Given the description of an element on the screen output the (x, y) to click on. 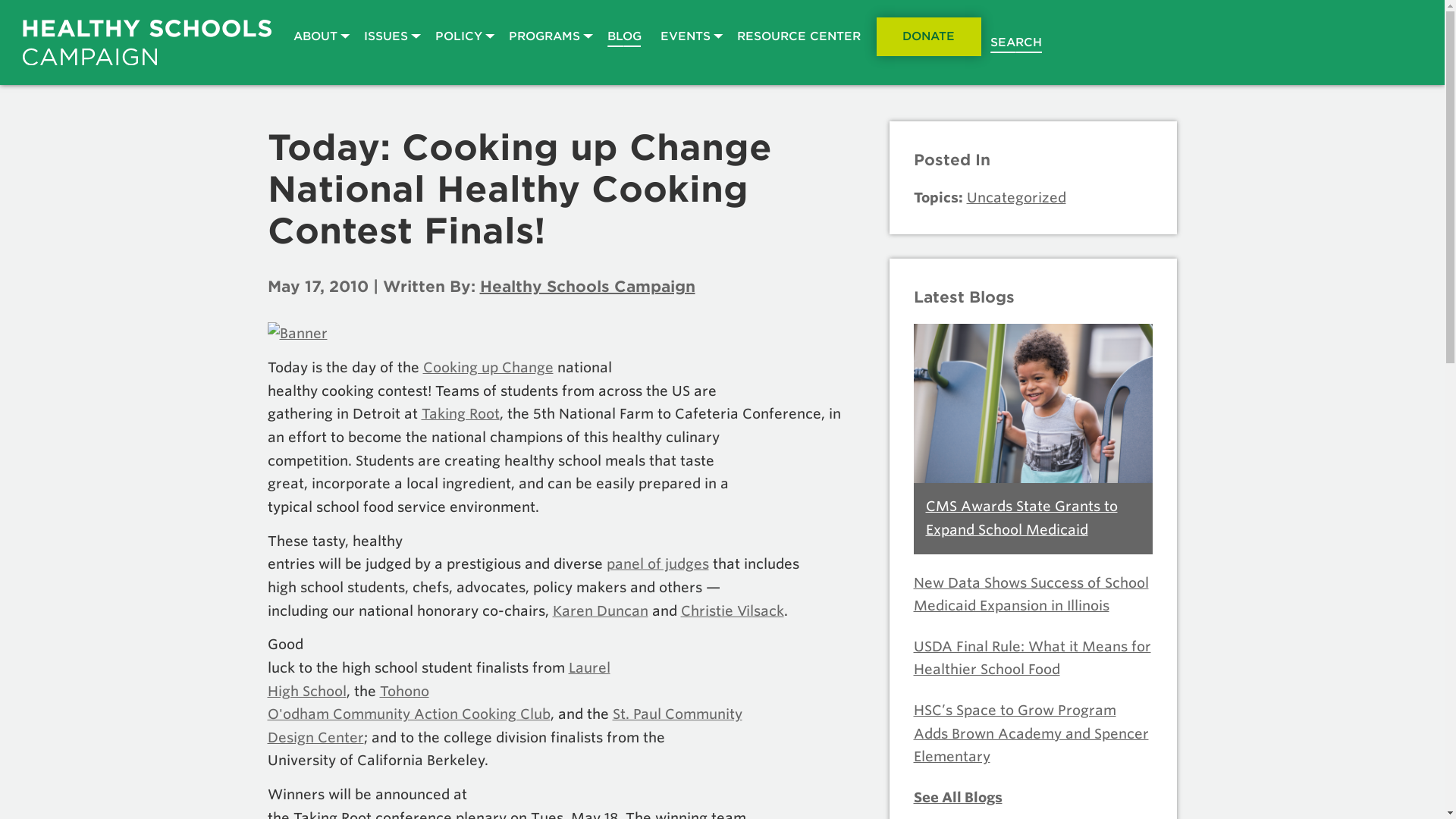
SEARCH (1016, 41)
Banner (566, 333)
Christie Vilsack (732, 609)
EVENTS (689, 36)
St. Paul Community Design Center (503, 725)
BLOG (623, 36)
Healthy Schools Campaign (146, 42)
Karen Duncan (599, 609)
Healthy Schools Campaign (586, 286)
SKIP TO MAIN CONTENT (13, 13)
panel of judges (658, 563)
POLICY (462, 36)
Posts by Healthy Schools Campaign (586, 286)
ABOUT (319, 36)
PROGRAMS (548, 36)
